Given the description of an element on the screen output the (x, y) to click on. 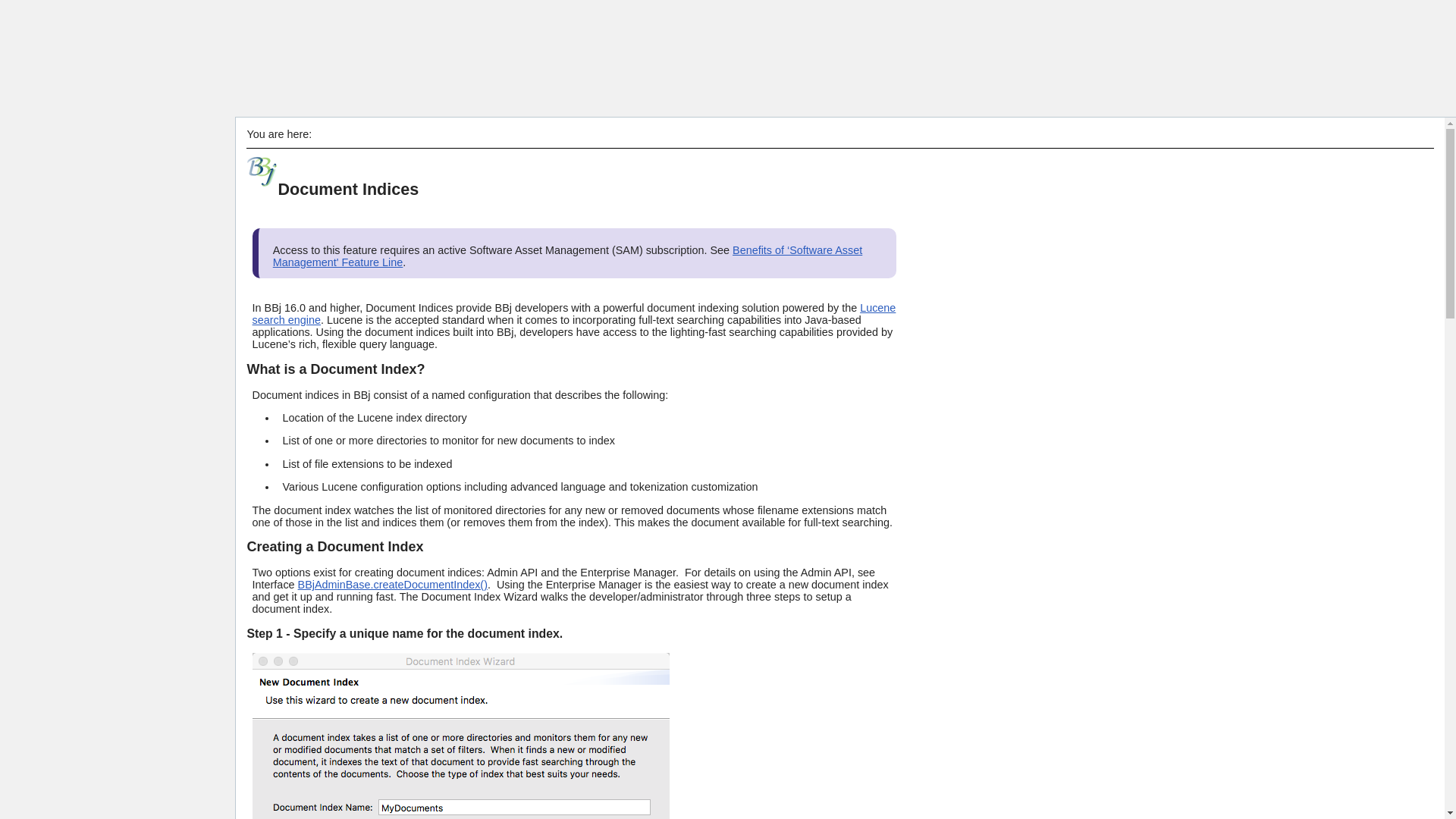
Lucene search engine (573, 313)
